Given the description of an element on the screen output the (x, y) to click on. 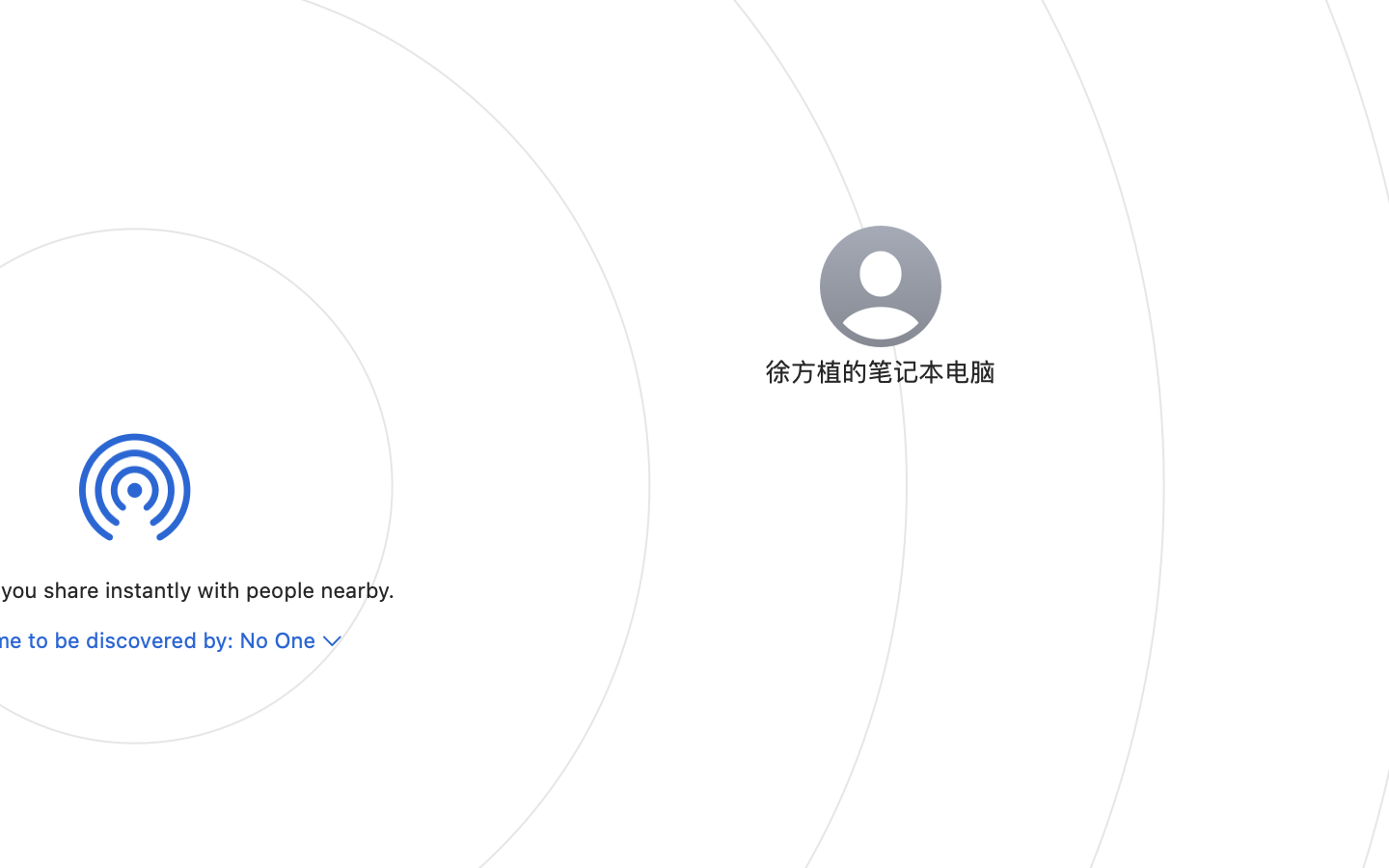
徐方植的笔记本电脑 Element type: AXStaticText (879, 369)
